Given the description of an element on the screen output the (x, y) to click on. 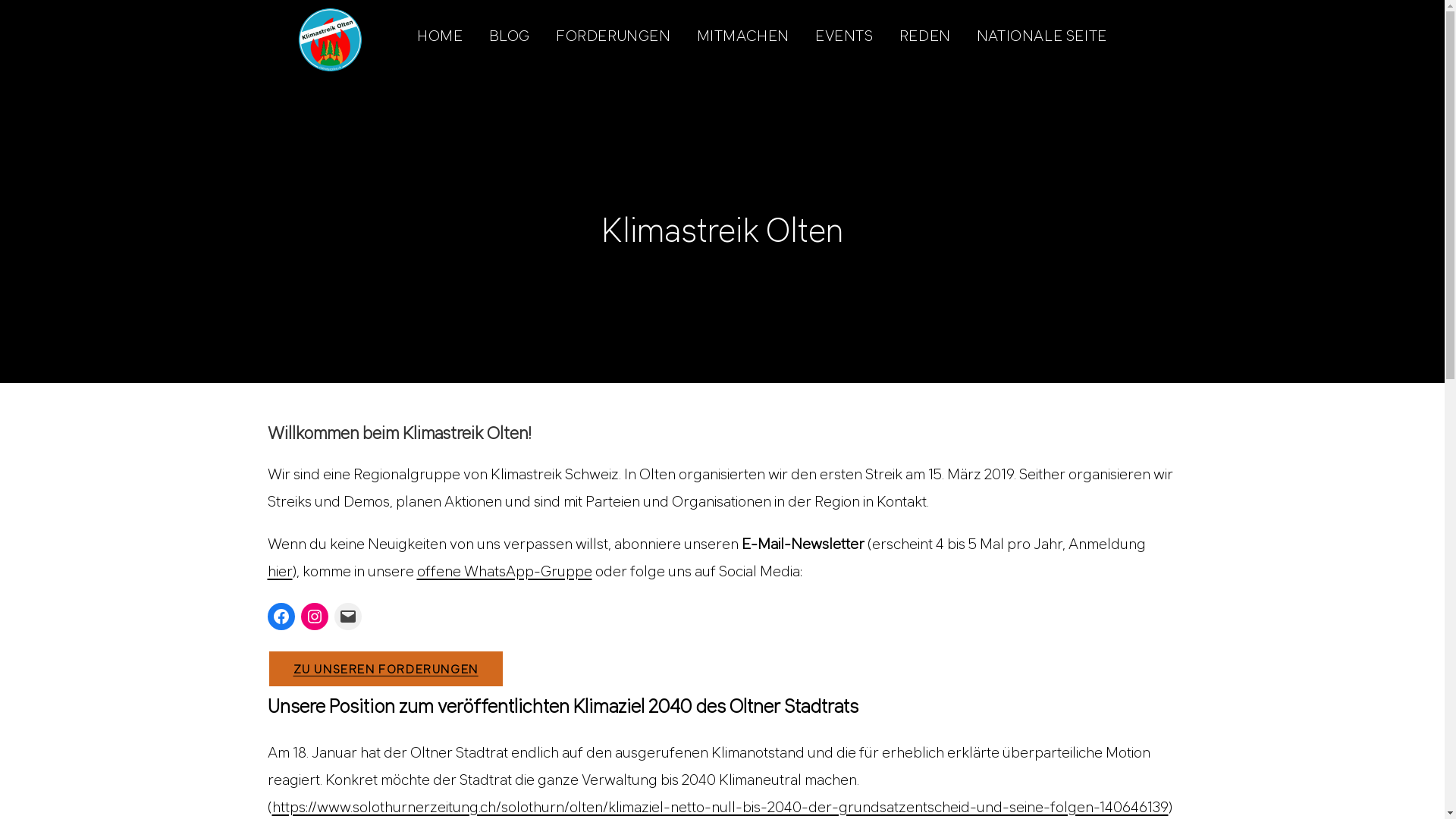
hier Element type: text (278, 570)
ZU UNSEREN FORDERUNGEN Element type: text (385, 668)
REDEN Element type: text (925, 35)
offene WhatsApp-Gruppe Element type: text (504, 570)
BLOG Element type: text (509, 35)
NATIONALE SEITE Element type: text (1041, 35)
HOME Element type: text (439, 35)
EVENTS Element type: text (843, 35)
MITMACHEN Element type: text (742, 35)
FORDERUNGEN Element type: text (613, 35)
